Given the description of an element on the screen output the (x, y) to click on. 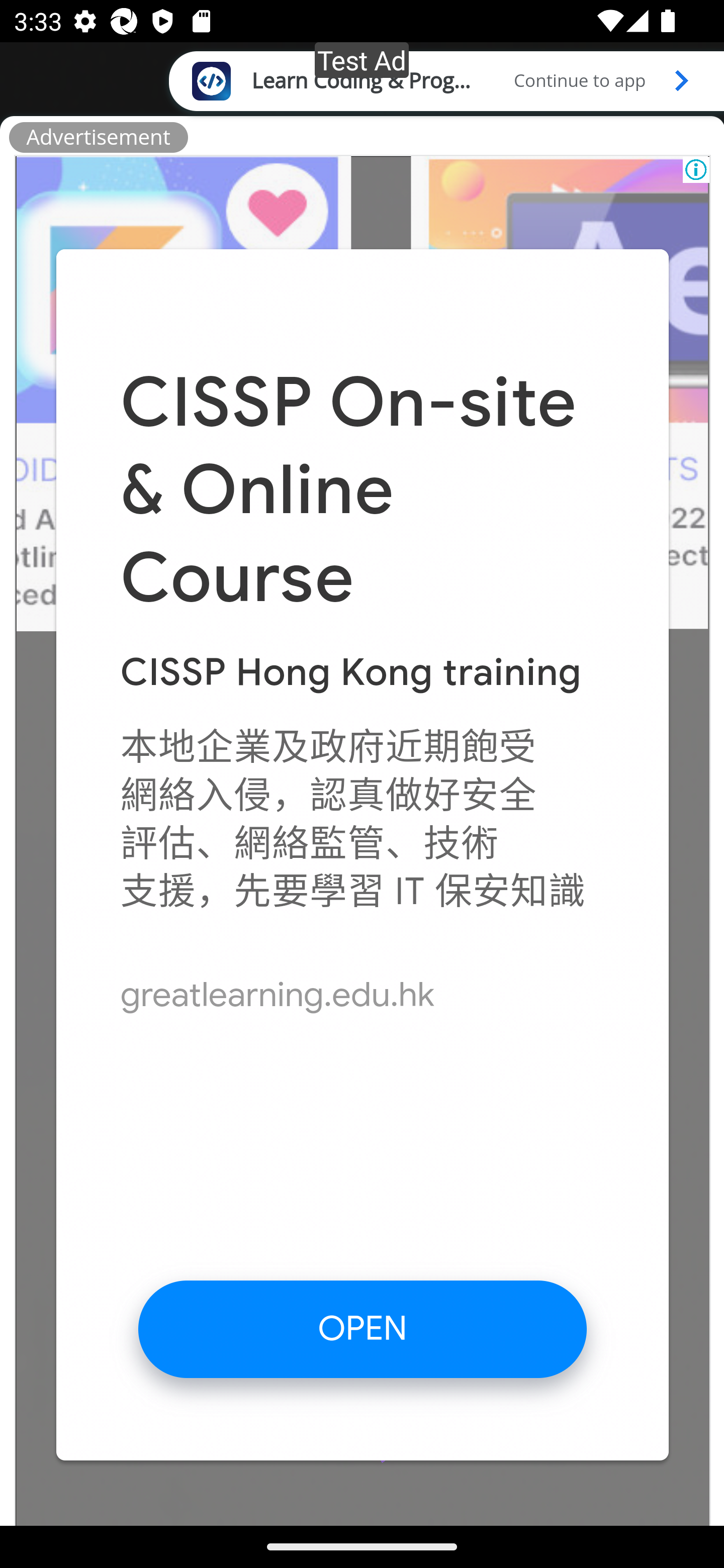
Learn Coding & Programming Continue to app (446, 80)
CISSP Hong Kong training (350, 672)
greatlearning.edu.hk (277, 994)
OPEN (362, 1327)
